Given the description of an element on the screen output the (x, y) to click on. 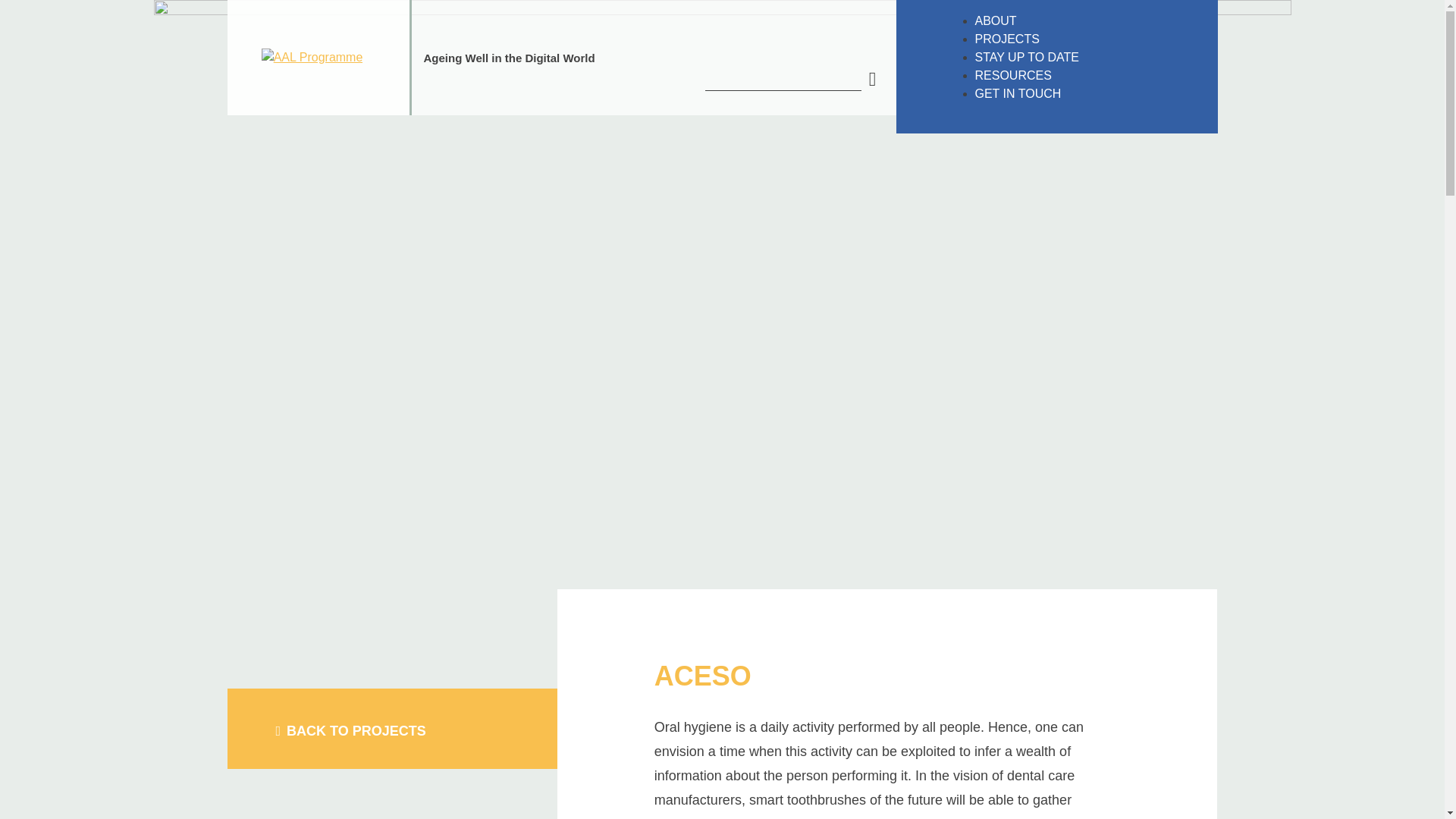
ABOUT (1090, 21)
STAY UP TO DATE (1090, 57)
RESOURCES (1090, 75)
Search for: (872, 78)
GET IN TOUCH (1090, 94)
PROJECTS (1090, 39)
BACK TO PROJECTS (351, 730)
Search for: (782, 78)
